Given the description of an element on the screen output the (x, y) to click on. 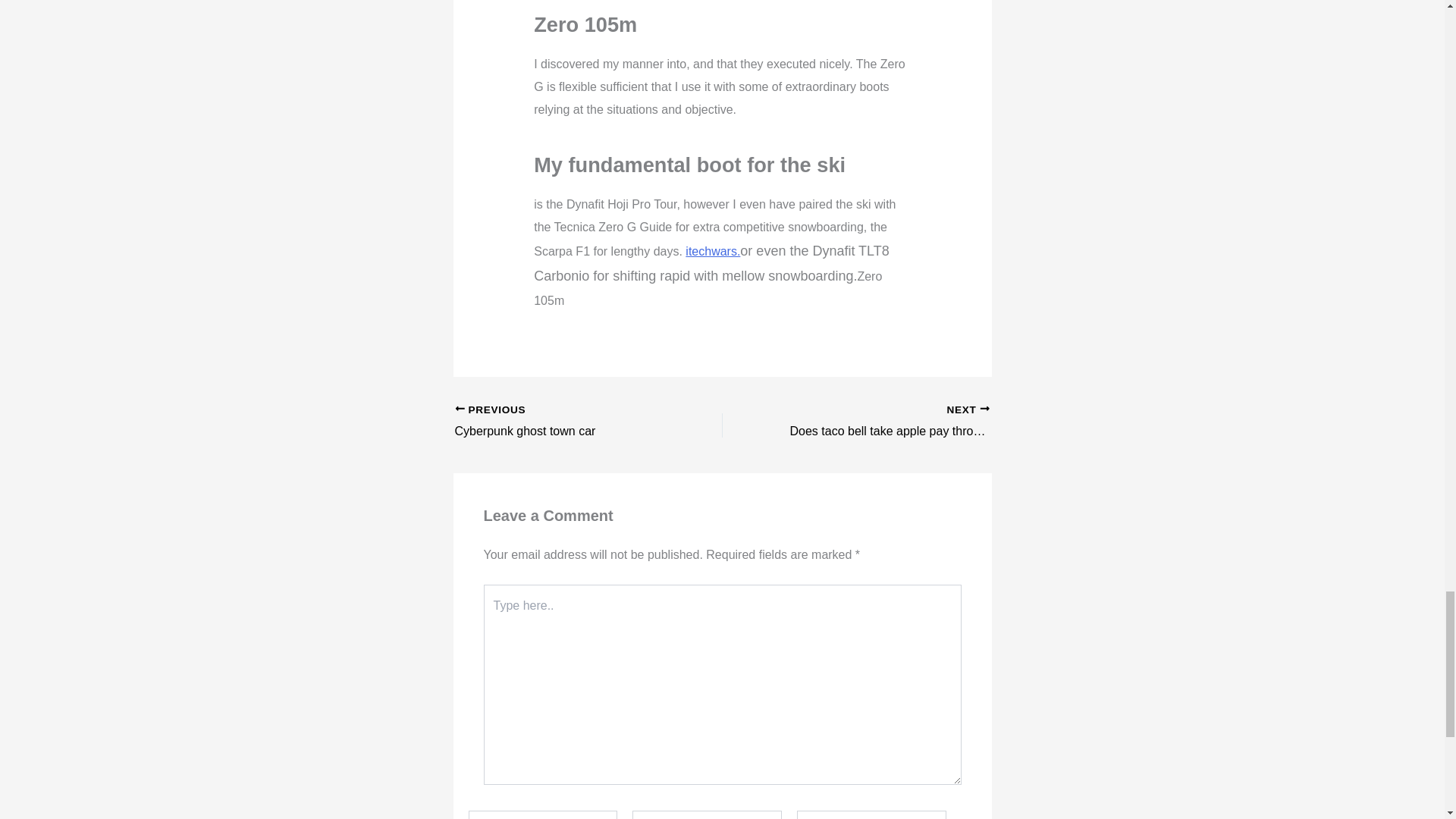
itechwars. (712, 250)
Does taco bell take apple pay through the drive-through (882, 422)
Cyberpunk ghost town car (882, 422)
